Given the description of an element on the screen output the (x, y) to click on. 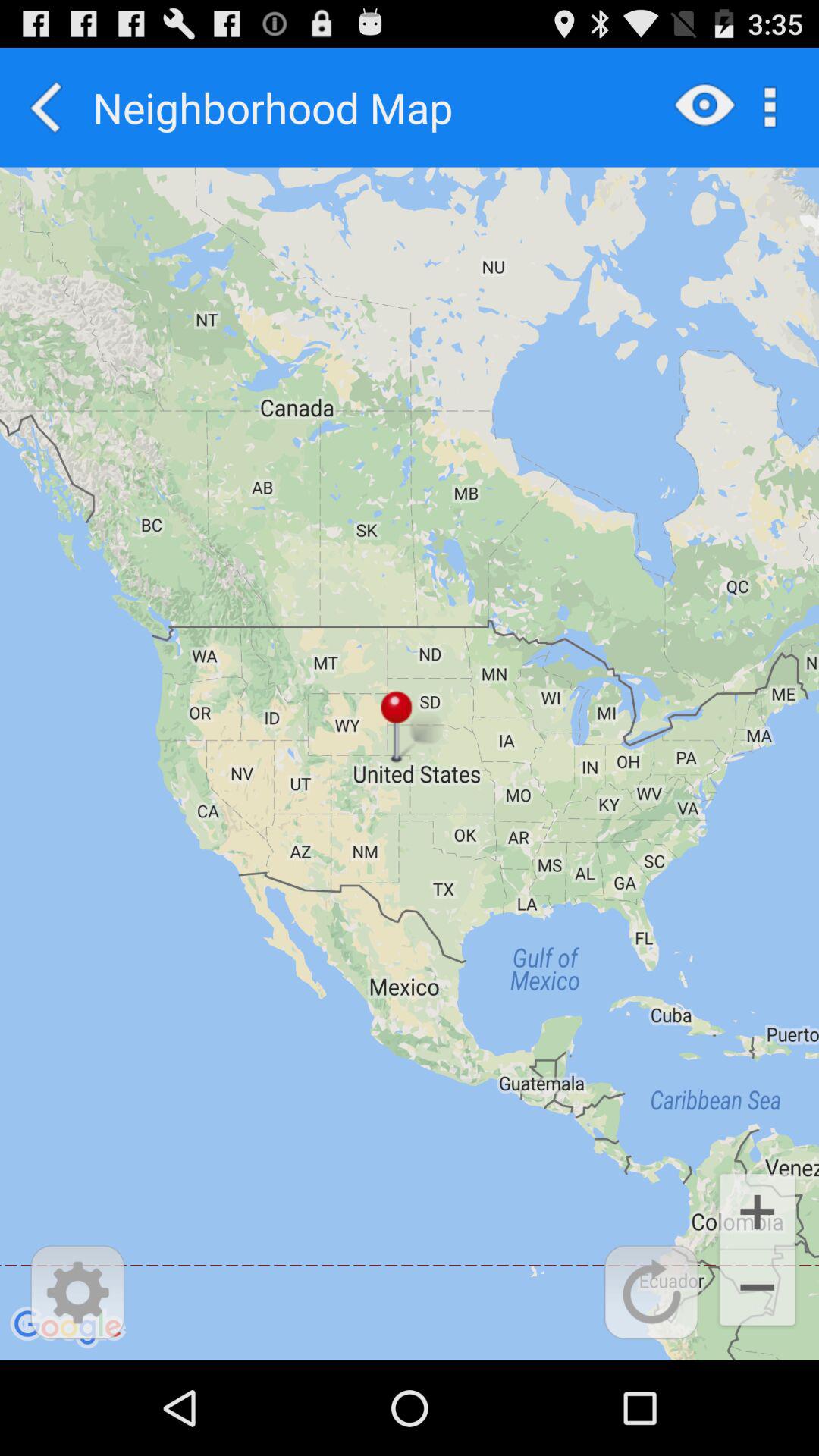
turn off icon at the top left corner (46, 106)
